Given the description of an element on the screen output the (x, y) to click on. 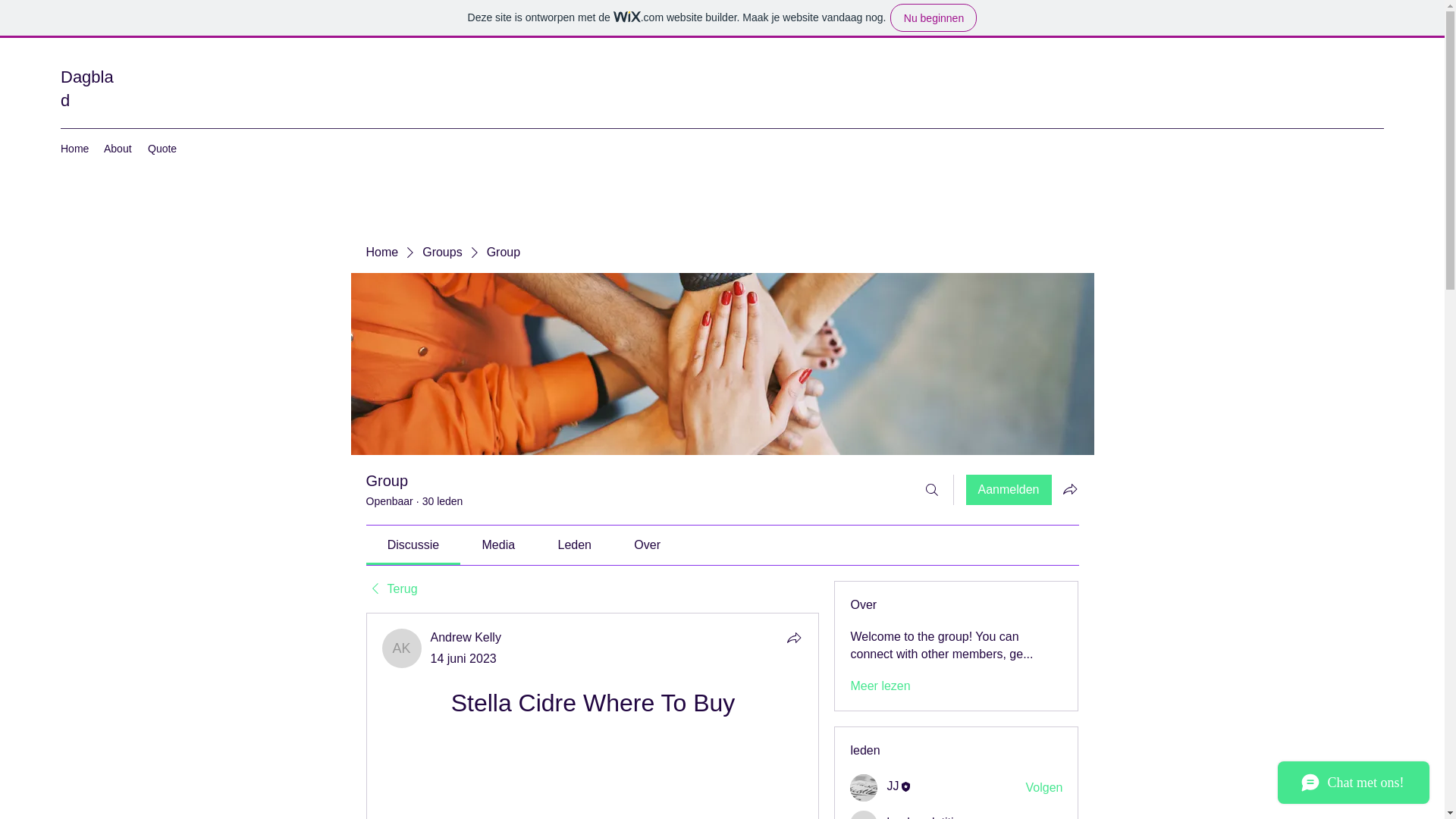
heulwenletitia (922, 816)
14 juni 2023 (463, 658)
Andrew Kelly (465, 636)
Home (74, 148)
Andrew Kelly (401, 648)
Terug (390, 588)
JJ (863, 787)
Aanmelden (1008, 490)
Volgen (1044, 817)
Home (381, 252)
